Given the description of an element on the screen output the (x, y) to click on. 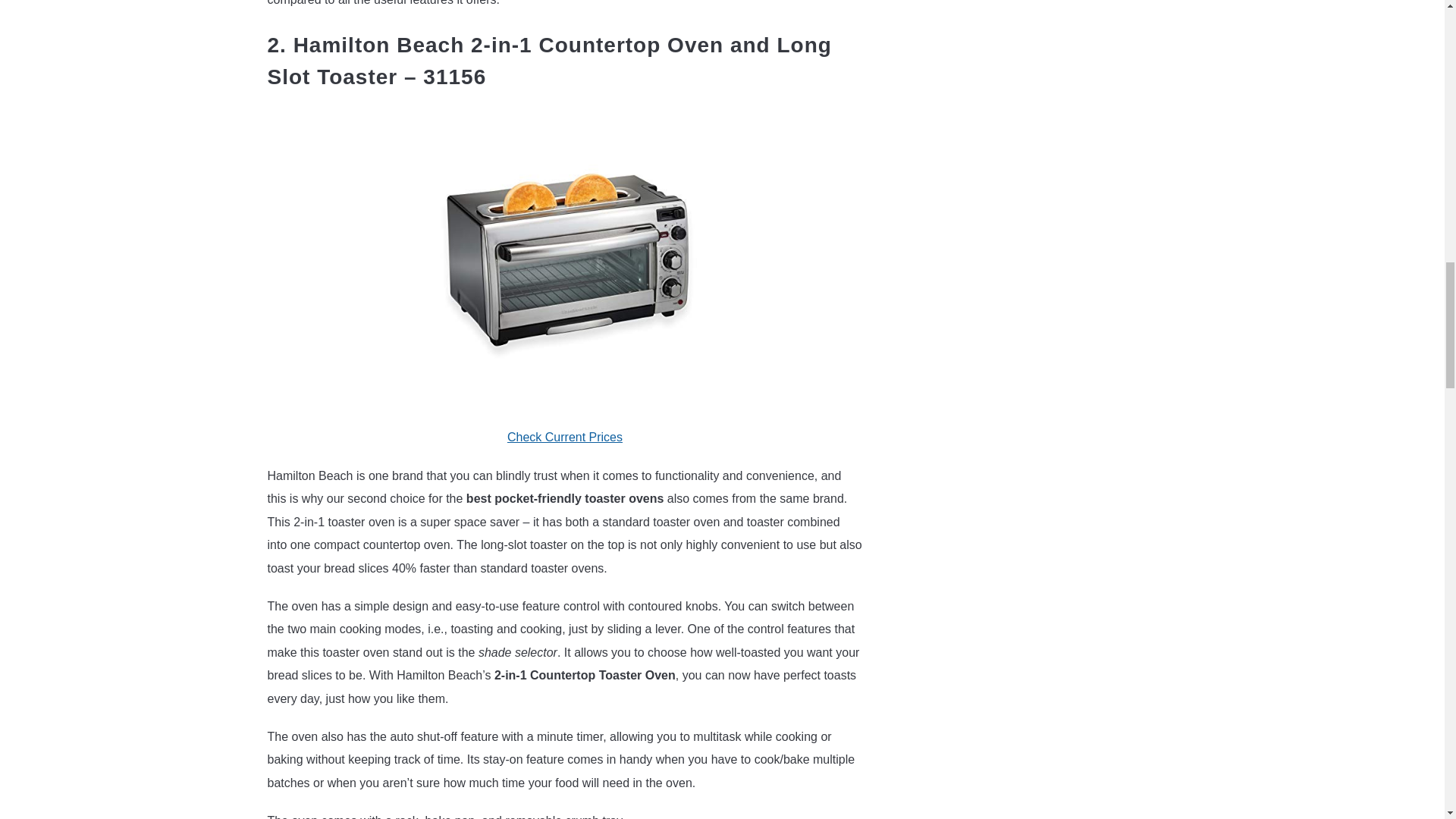
Check Current Prices (564, 436)
